Given the description of an element on the screen output the (x, y) to click on. 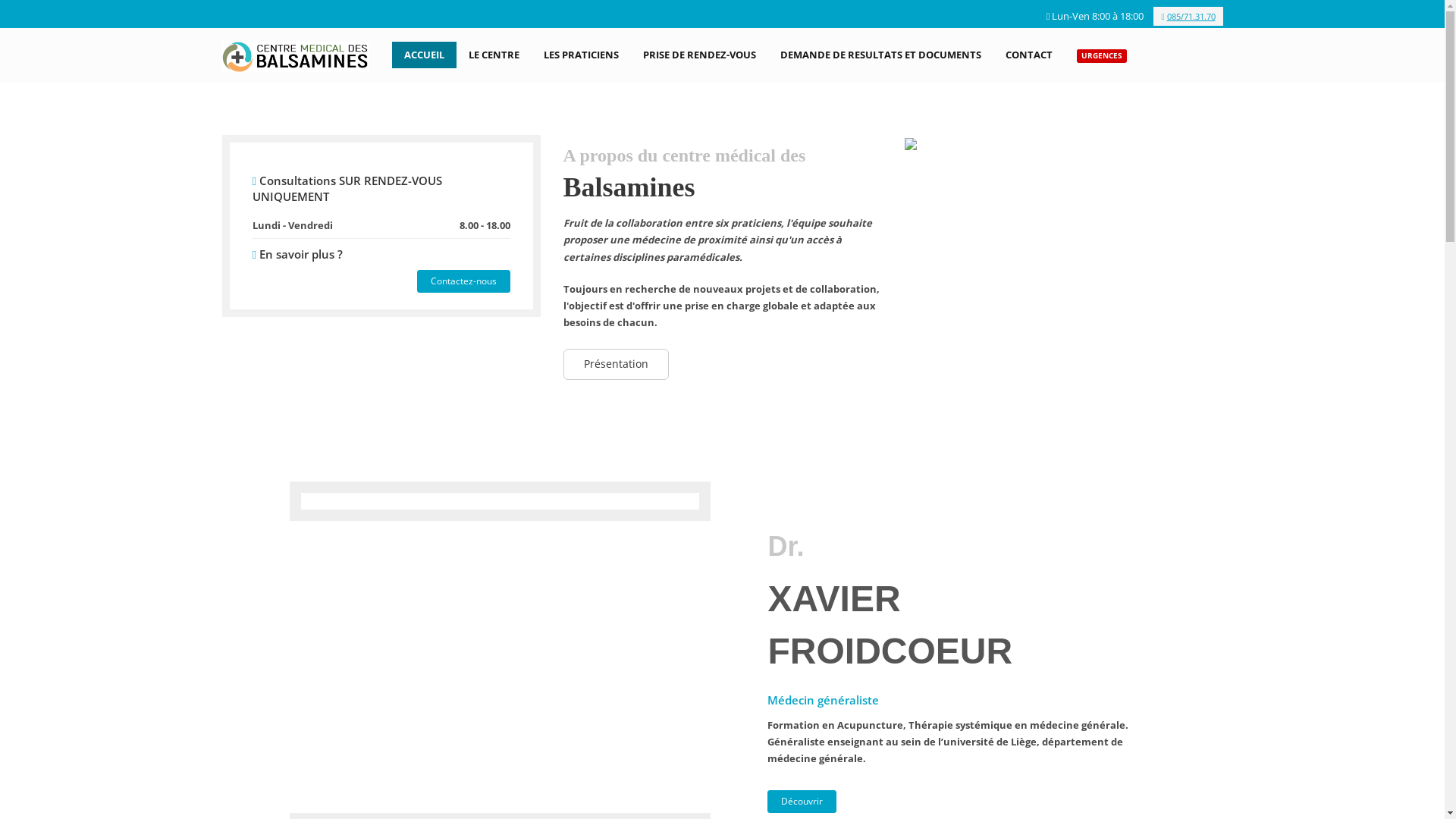
085/71.31.70 Element type: text (1187, 15)
PRISE DE RENDEZ-VOUS Element type: text (699, 54)
Contactez-nous Element type: text (463, 280)
CONTACT Element type: text (1028, 54)
URGENCES Element type: text (1101, 54)
LES PRATICIENS Element type: text (580, 54)
LE CENTRE Element type: text (493, 54)
ACCUEIL Element type: text (424, 54)
DEMANDE DE RESULTATS ET DOCUMENTS Element type: text (880, 54)
